Given the description of an element on the screen output the (x, y) to click on. 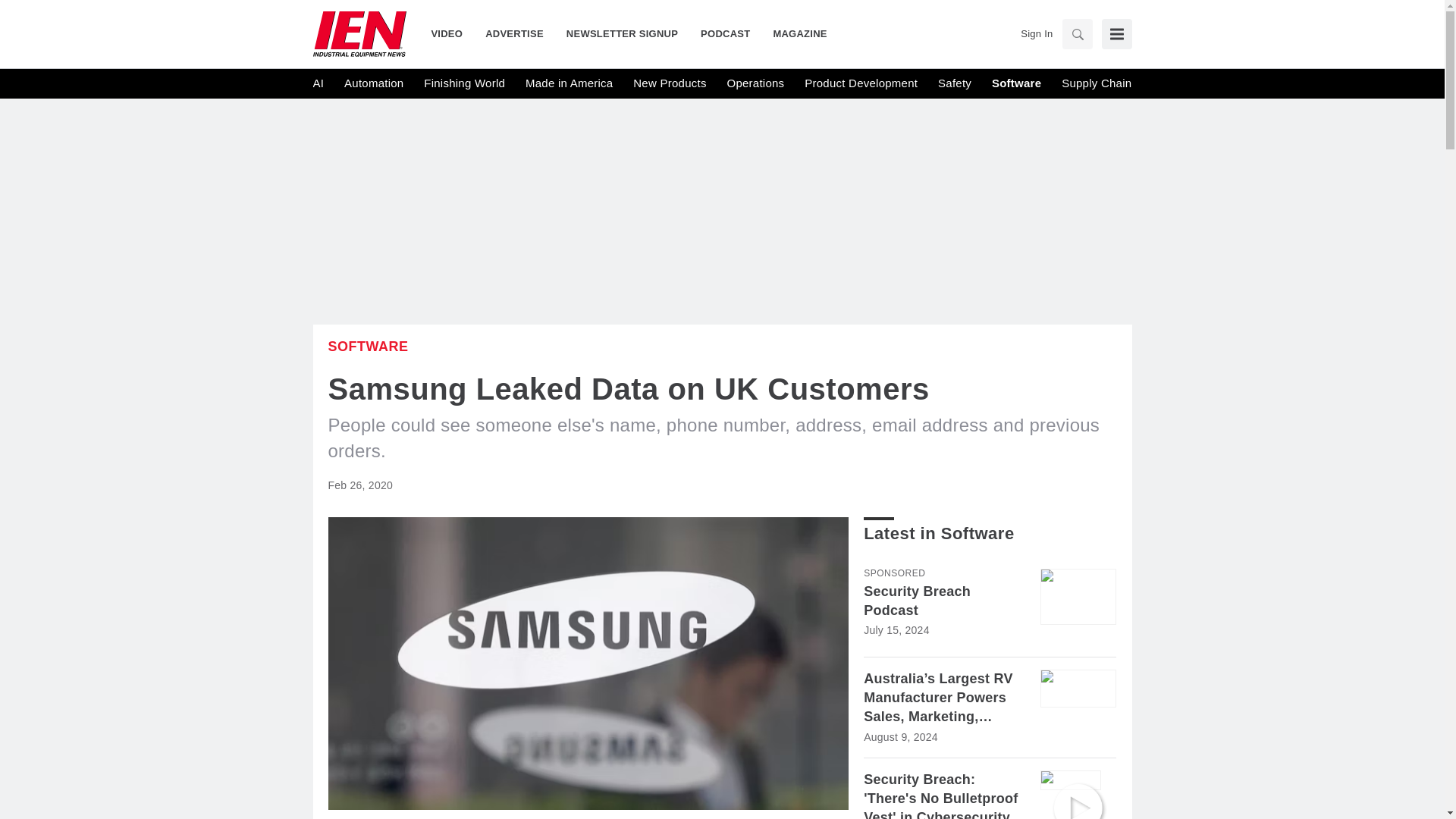
Operations (755, 83)
NEWSLETTER SIGNUP (621, 33)
Product Development (861, 83)
PODCAST (724, 33)
Made in America (568, 83)
ADVERTISE (514, 33)
VIDEO (452, 33)
Software (367, 346)
Sign In (1036, 33)
Finishing World (464, 83)
